Given the description of an element on the screen output the (x, y) to click on. 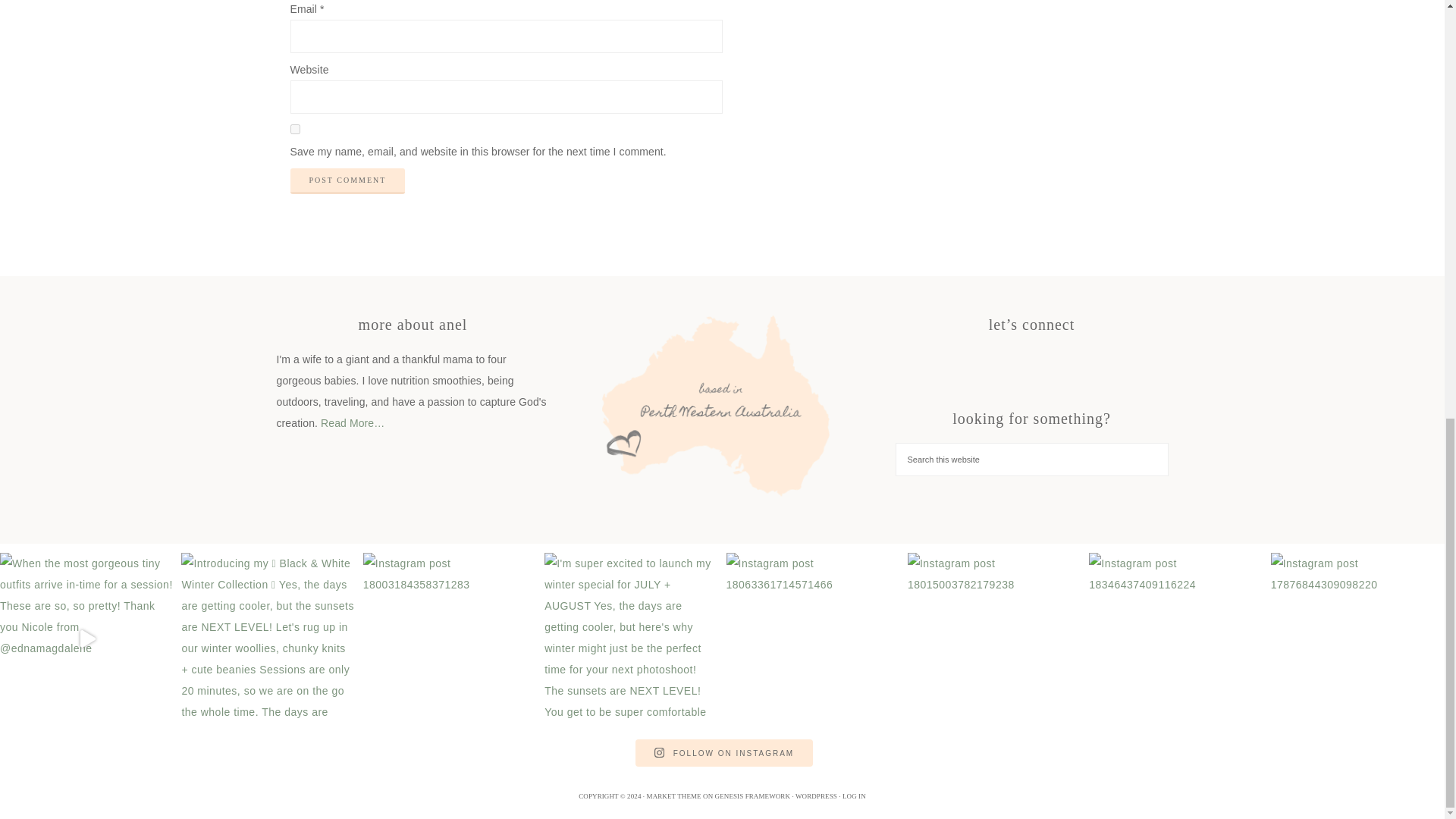
WORDPRESS (815, 796)
MARKET THEME (673, 796)
Post Comment (346, 181)
FOLLOW ON INSTAGRAM (723, 752)
Post Comment (346, 181)
GENESIS FRAMEWORK (752, 796)
yes (294, 129)
